Given the description of an element on the screen output the (x, y) to click on. 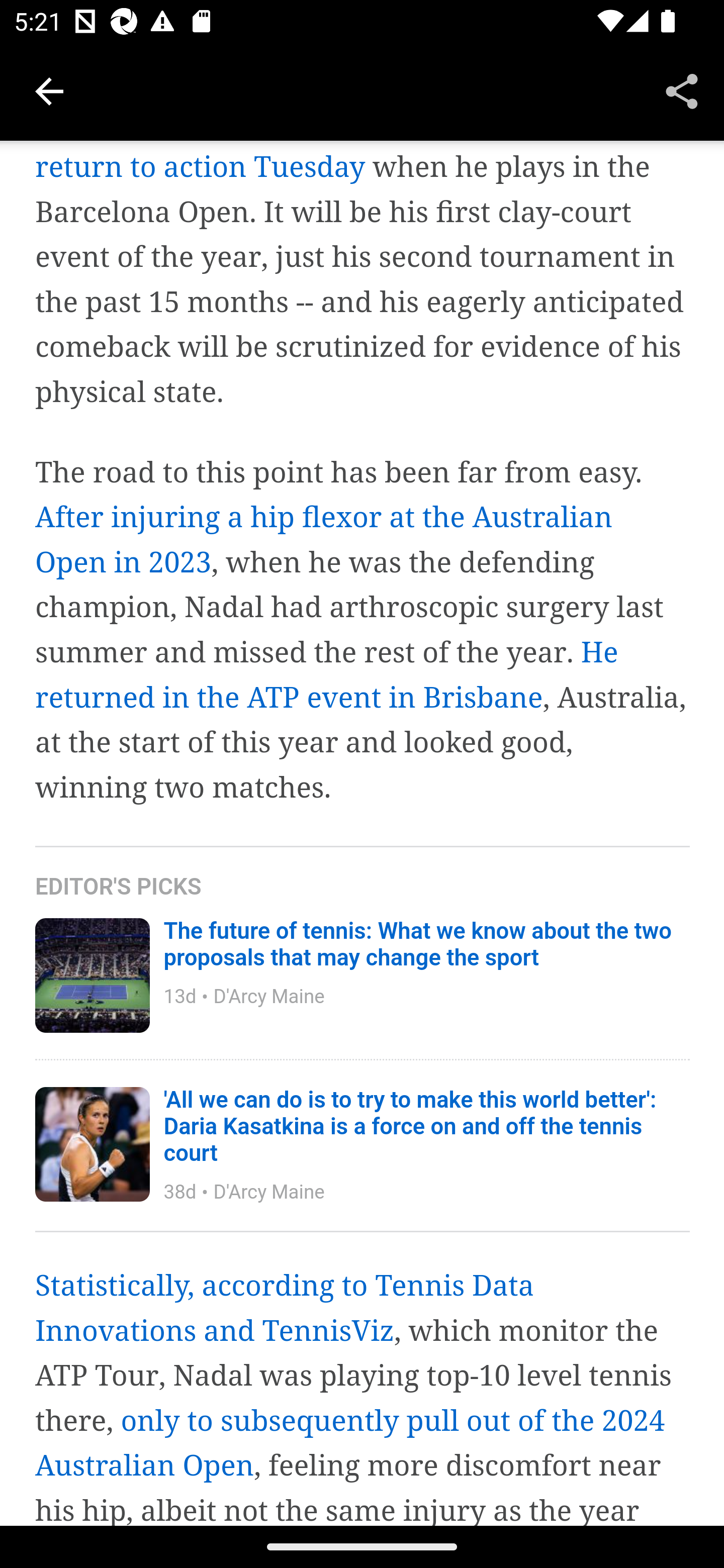
Navigate up (49, 91)
Share (681, 90)
